Given the description of an element on the screen output the (x, y) to click on. 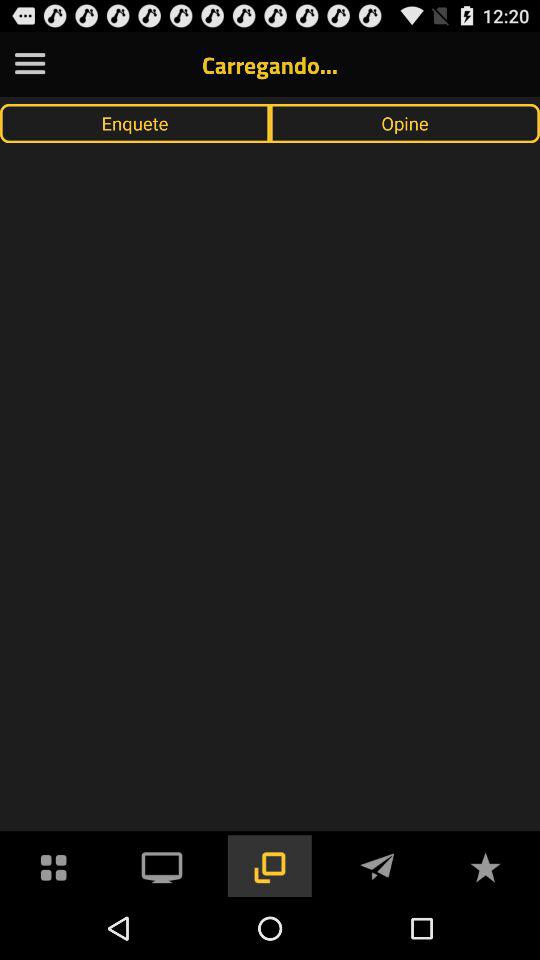
choose the app to the left of carregando... item (29, 64)
